Given the description of an element on the screen output the (x, y) to click on. 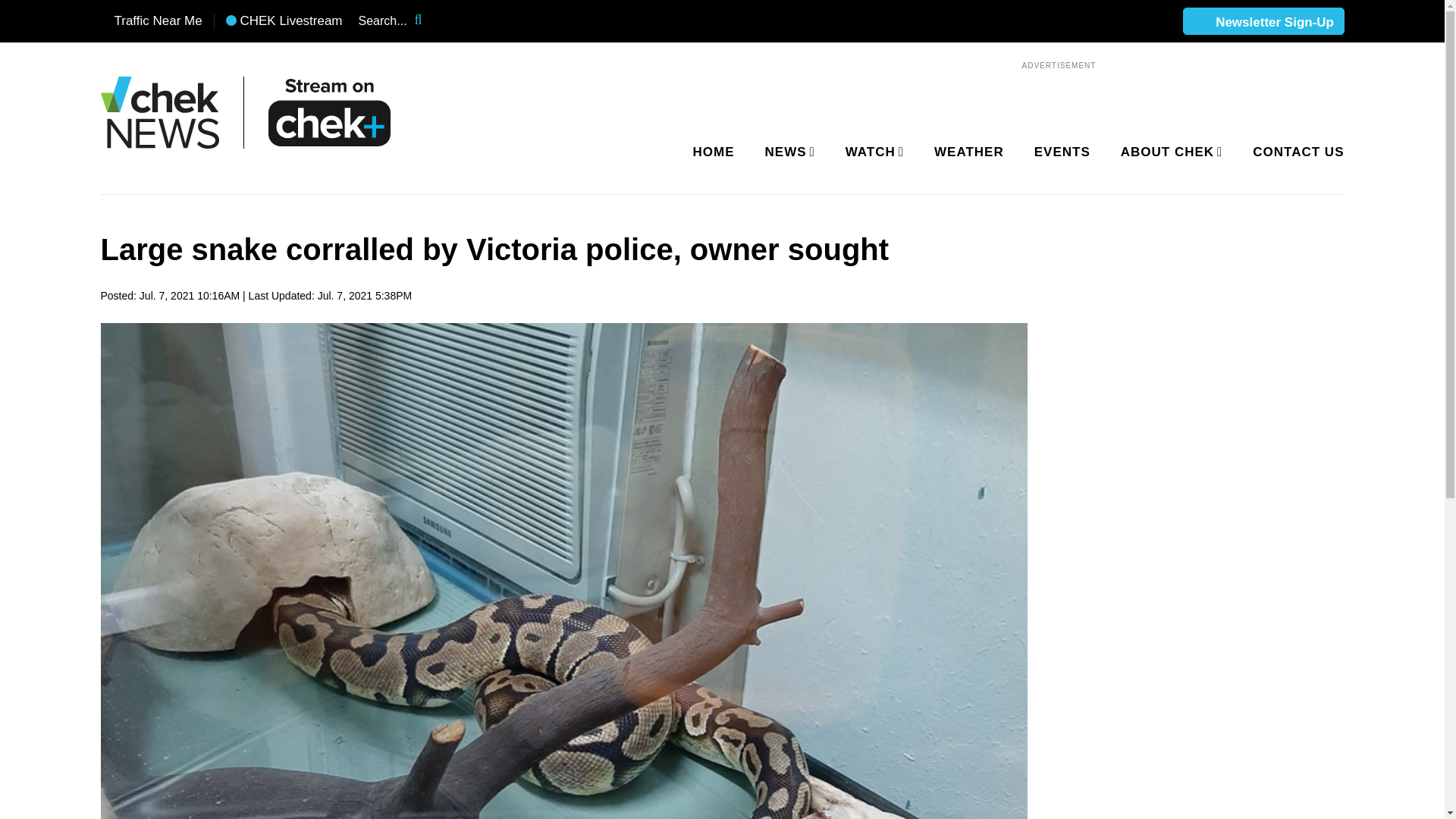
Newsletter Sign-Up (1262, 22)
NEWS (787, 152)
CHEK Livestream (283, 20)
Traffic Near Me (151, 20)
HOME (714, 152)
Search (428, 21)
